Given the description of an element on the screen output the (x, y) to click on. 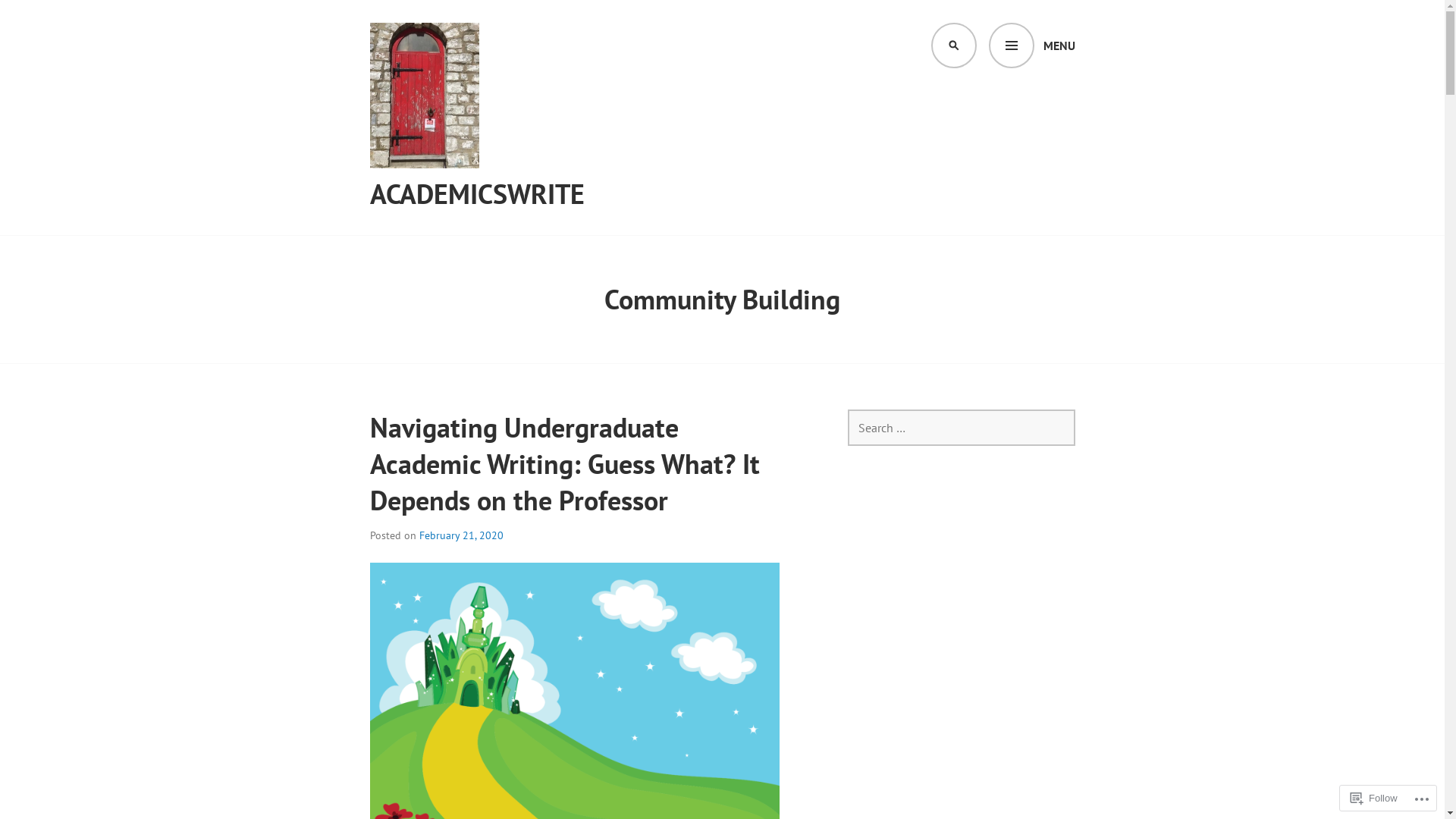
February 21, 2020 Element type: text (460, 535)
MENU Element type: text (1031, 45)
Follow Element type: text (1373, 797)
ACADEMICSWRITE Element type: text (477, 193)
Search Element type: text (40, 18)
